Given the description of an element on the screen output the (x, y) to click on. 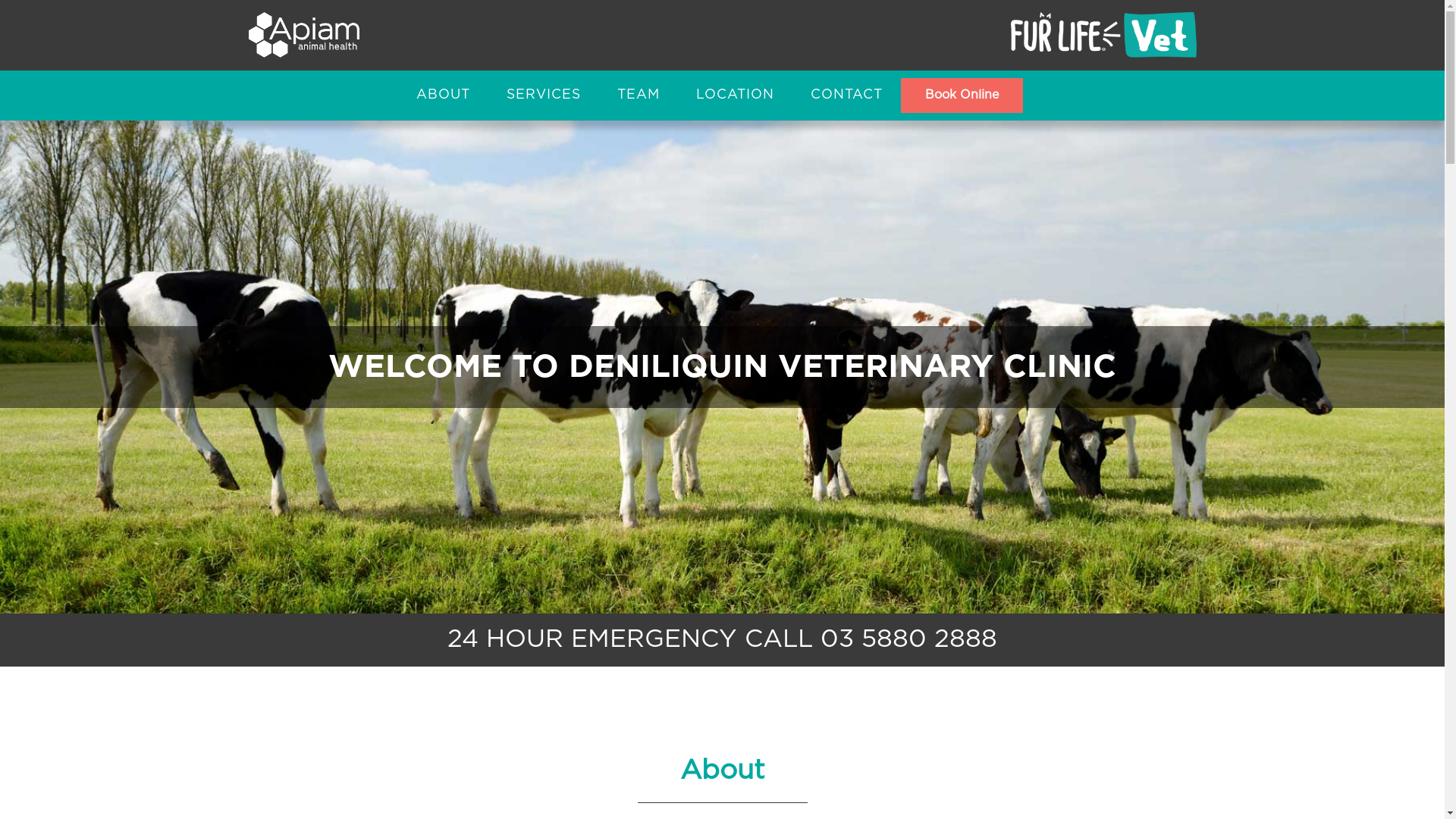
SERVICES Element type: text (543, 95)
LOCATION Element type: text (735, 95)
CONTACT Element type: text (845, 95)
ABOUT Element type: text (442, 95)
TEAM Element type: text (638, 95)
03 5880 2888 Element type: text (908, 639)
Book Online Element type: text (961, 95)
